Given the description of an element on the screen output the (x, y) to click on. 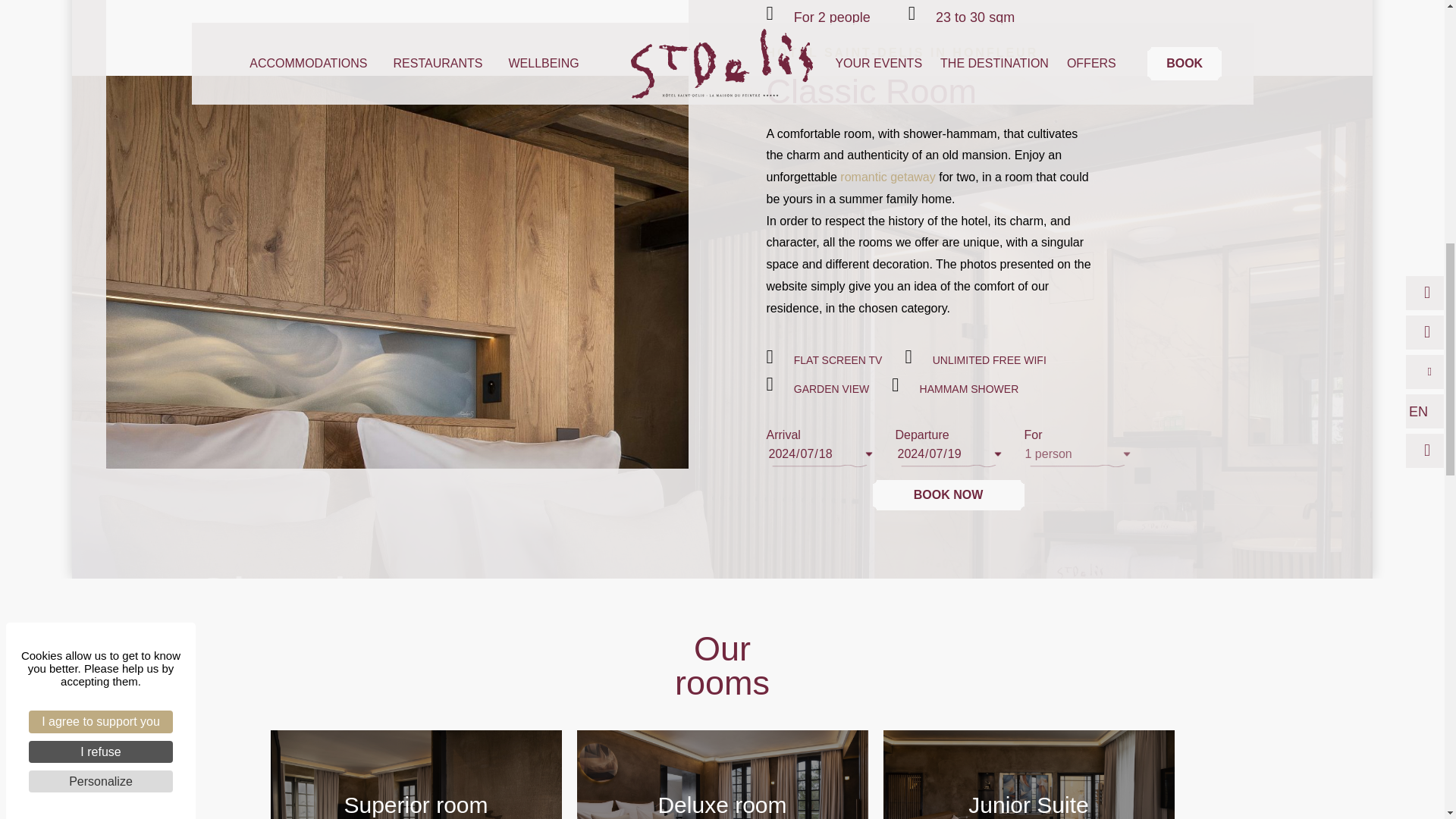
2024-07-19 (948, 454)
2024-07-18 (818, 454)
